Given the description of an element on the screen output the (x, y) to click on. 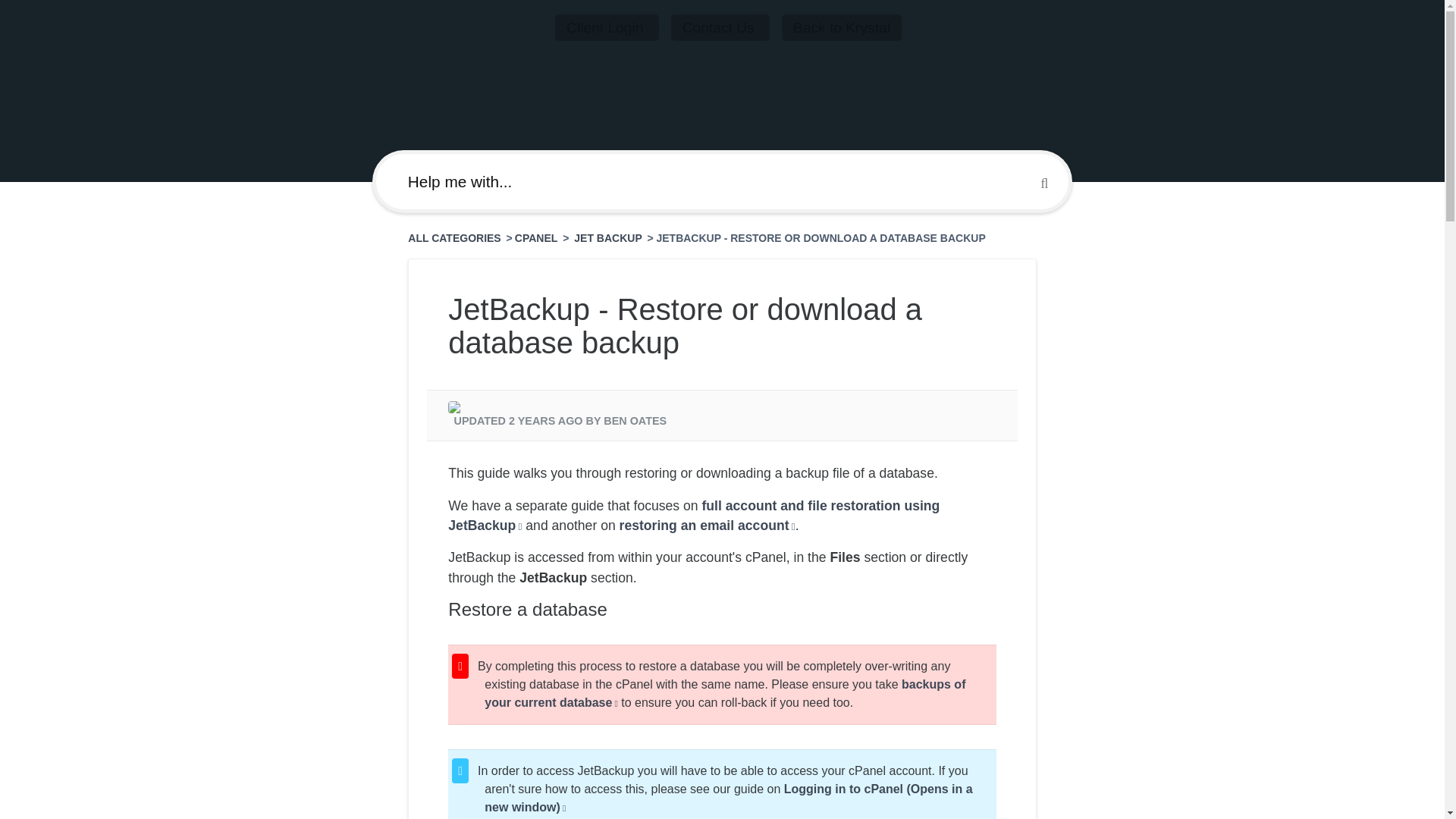
restoring an email account (707, 525)
backups of your current database (724, 693)
CPANEL (536, 237)
ALL CATEGORIES (455, 237)
Back to Krystal (841, 27)
Client Login (606, 27)
JET BACKUP (609, 237)
full account and file restoration using JetBackup (693, 515)
Contact Us (720, 27)
